Given the description of an element on the screen output the (x, y) to click on. 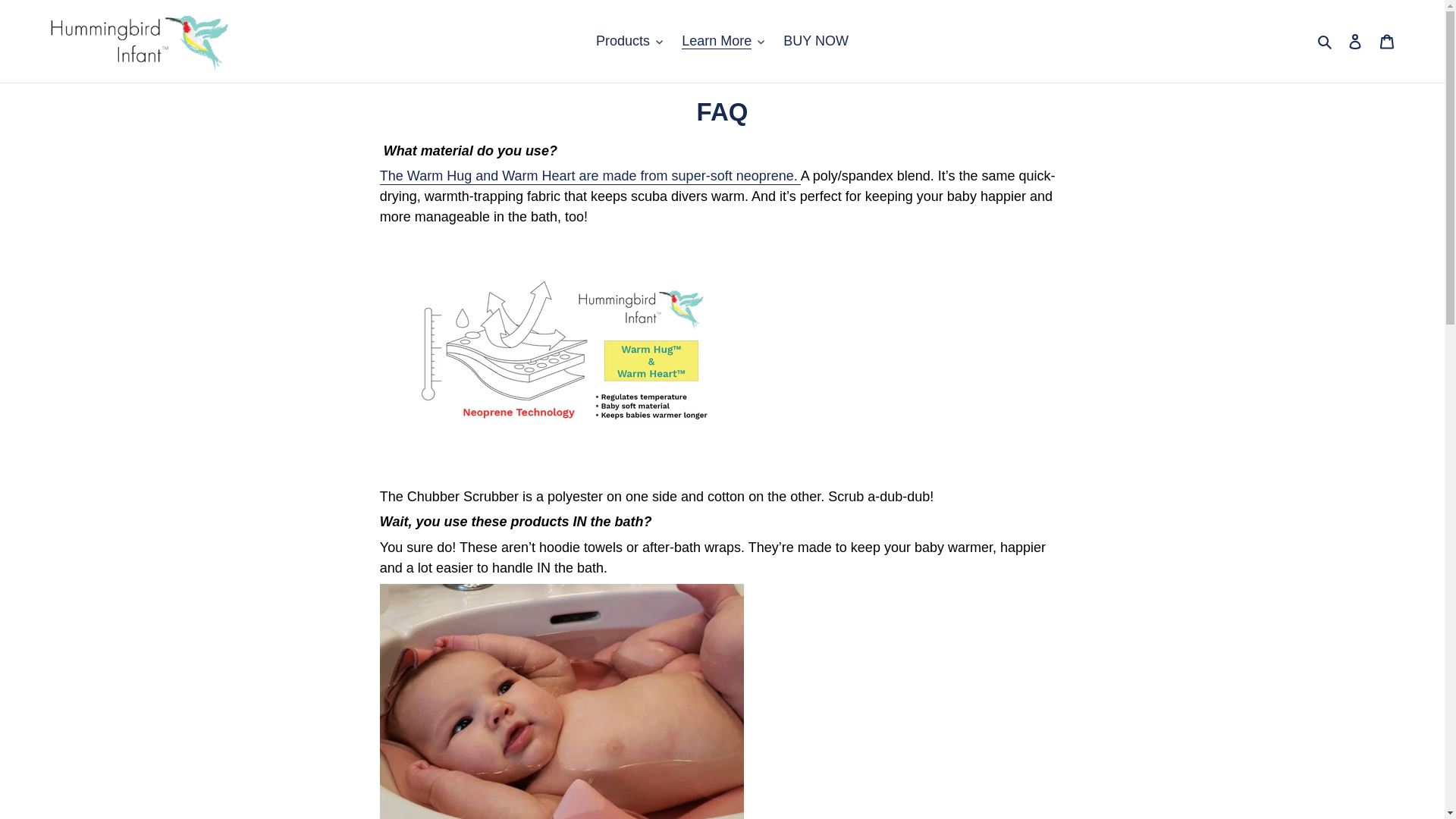
Log in (1355, 40)
Cart (1387, 40)
Search (1326, 41)
Products (628, 41)
BUY NOW (816, 41)
Warm Hug Warm Heart and Chubber Scrubber Grow with Me Set (590, 176)
Learn More (722, 41)
